Given the description of an element on the screen output the (x, y) to click on. 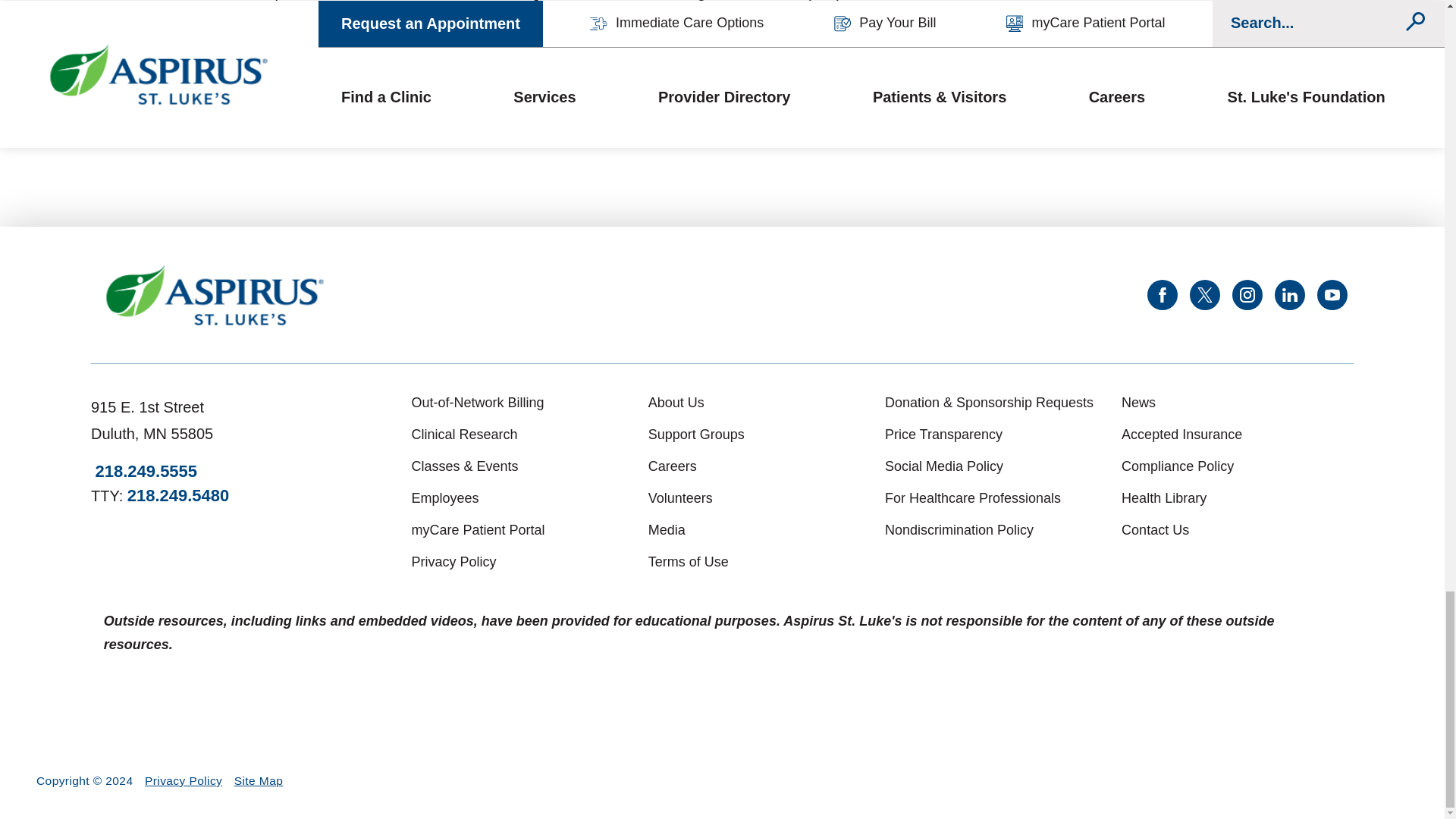
LinkedIn (1289, 295)
Aspirus St. Luke's (214, 295)
Twitter (1204, 295)
YouTube (1332, 295)
Facebook (1162, 295)
Instagram (1246, 295)
